Given the description of an element on the screen output the (x, y) to click on. 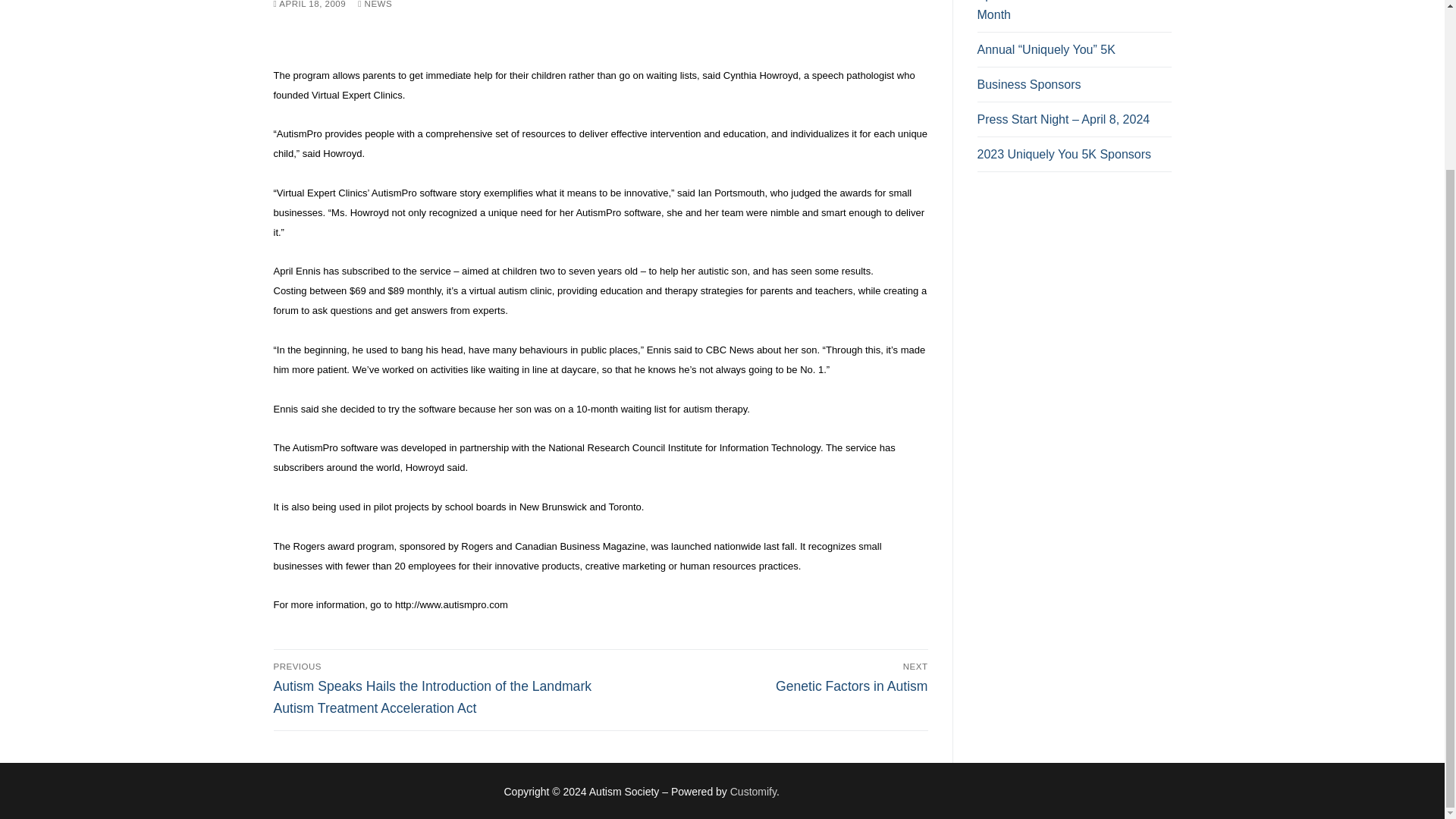
APRIL 18, 2009 (309, 4)
2023 Uniquely You 5K Sponsors (767, 677)
NEWS (1073, 157)
Customify (374, 4)
Business Sponsors (753, 791)
April is Global Autism Awareness Month (1073, 88)
